Given the description of an element on the screen output the (x, y) to click on. 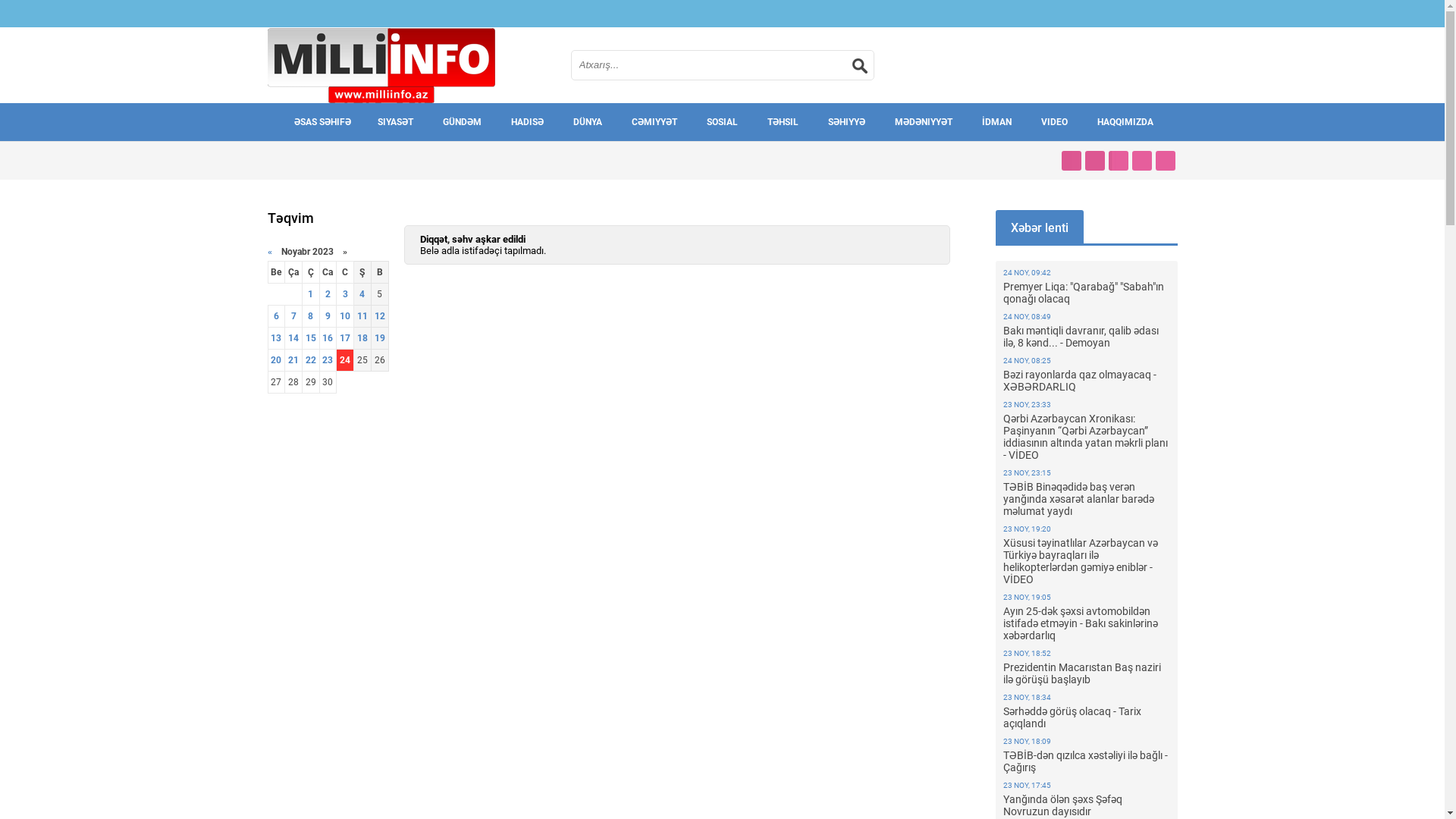
10 Element type: text (344, 315)
3 Element type: text (345, 293)
24 Element type: text (344, 359)
6 Element type: text (276, 315)
1 Element type: text (310, 293)
18 Element type: text (362, 337)
16 Element type: text (327, 337)
12 Element type: text (379, 315)
15 Element type: text (310, 337)
7 Element type: text (293, 315)
22 Element type: text (310, 359)
13 Element type: text (275, 337)
20 Element type: text (275, 359)
RSS Element type: hover (1165, 160)
8 Element type: text (310, 315)
19 Element type: text (379, 337)
SOSIAL Element type: text (722, 122)
17 Element type: text (344, 337)
2 Element type: text (327, 293)
11 Element type: text (362, 315)
4 Element type: text (361, 293)
9 Element type: text (327, 315)
23 Element type: text (327, 359)
VIDEO Element type: text (1054, 122)
HAQQIMIZDA Element type: text (1125, 122)
14 Element type: text (293, 337)
21 Element type: text (293, 359)
